Given the description of an element on the screen output the (x, y) to click on. 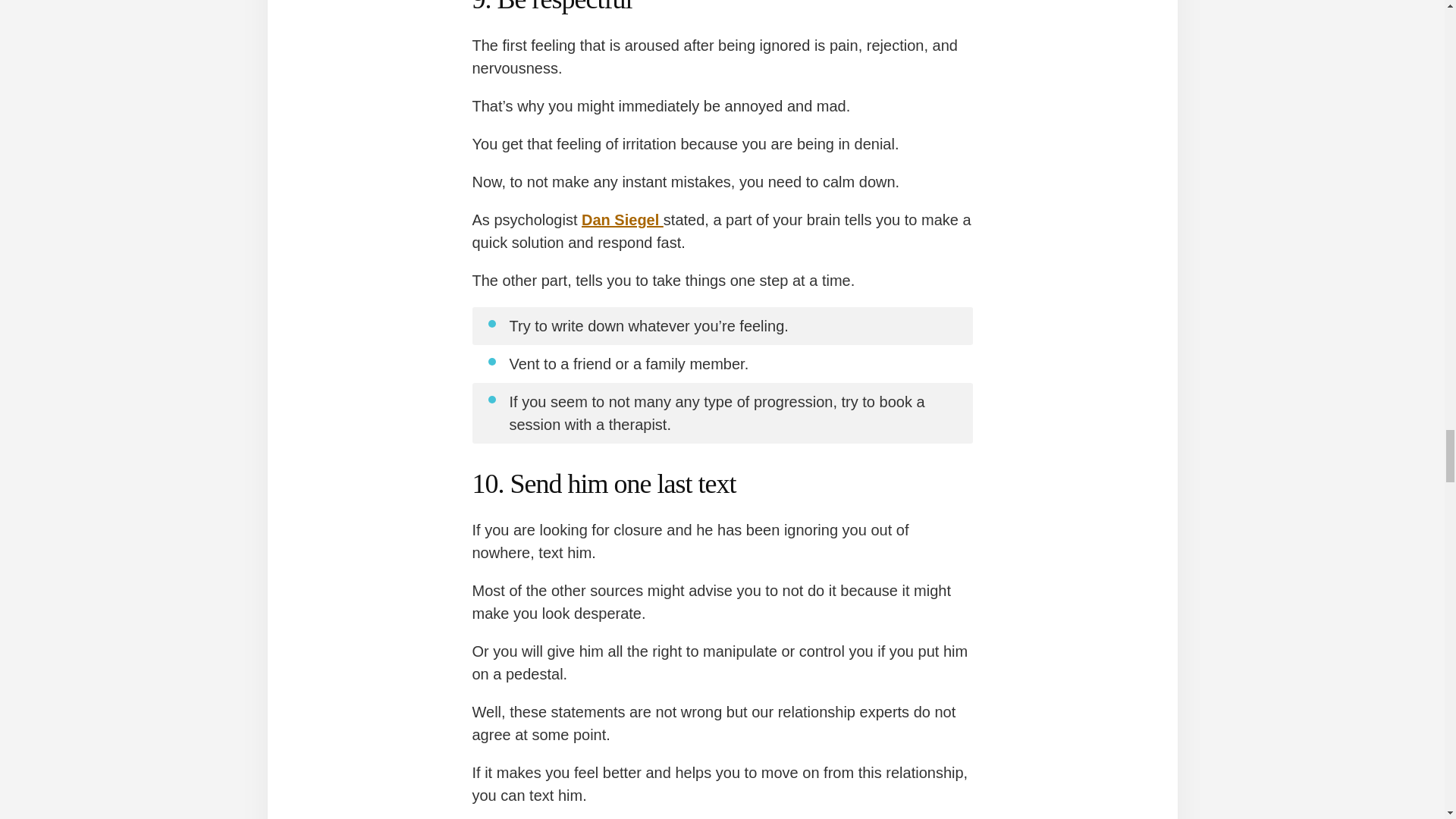
Dan Siegel (621, 219)
